Given the description of an element on the screen output the (x, y) to click on. 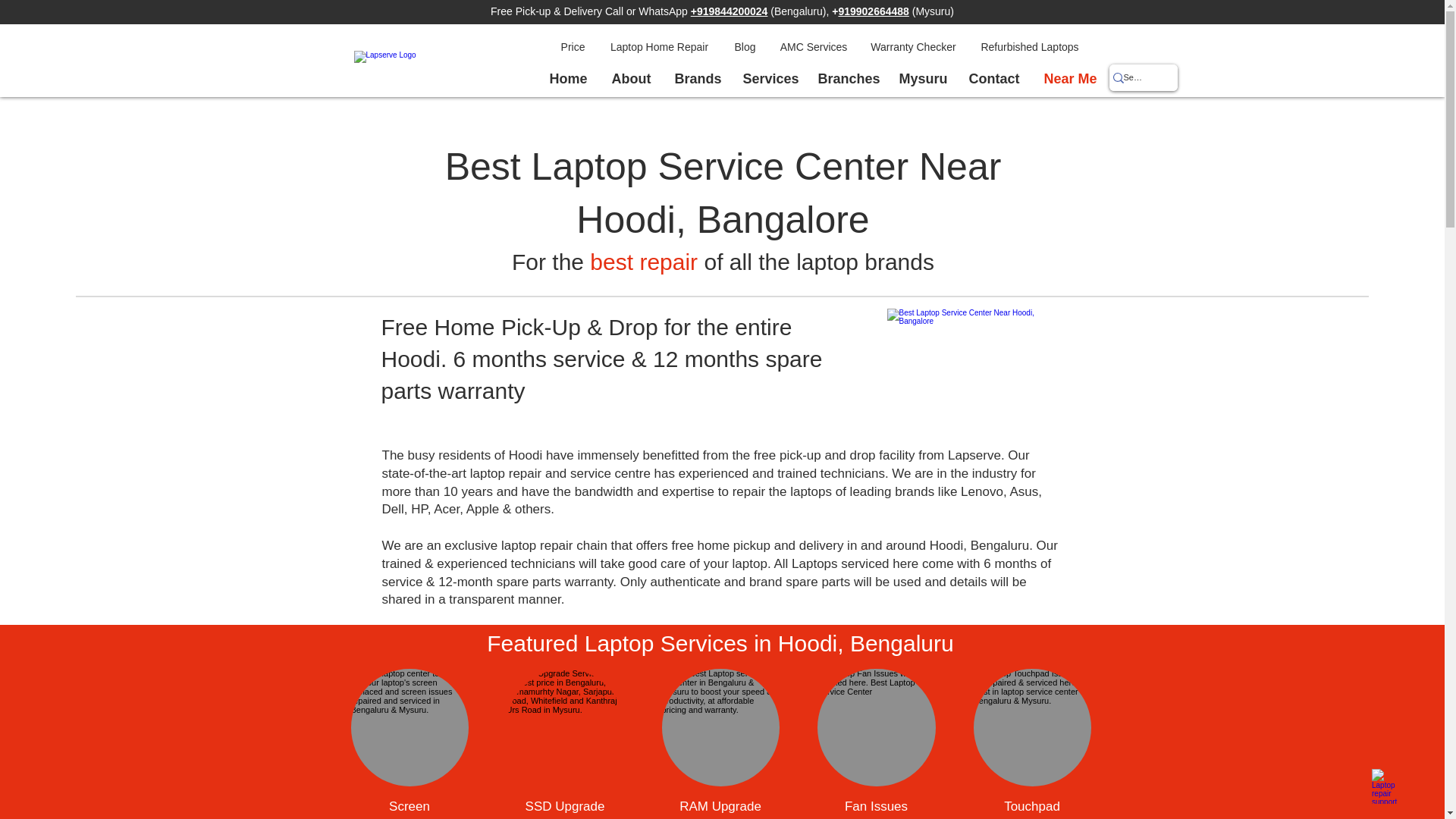
Home (567, 78)
Brands (696, 78)
Price (572, 46)
Branches (847, 78)
Warranty Checker (913, 46)
Refurbished Laptops (1029, 46)
Blog (745, 46)
Services (768, 78)
About (630, 78)
919902664488 (873, 10)
Click to connect with us on WhatsApp (1388, 786)
Lapserve-logo.png (445, 69)
AMC Services (813, 46)
Laptop Home Repair (659, 46)
